Given the description of an element on the screen output the (x, y) to click on. 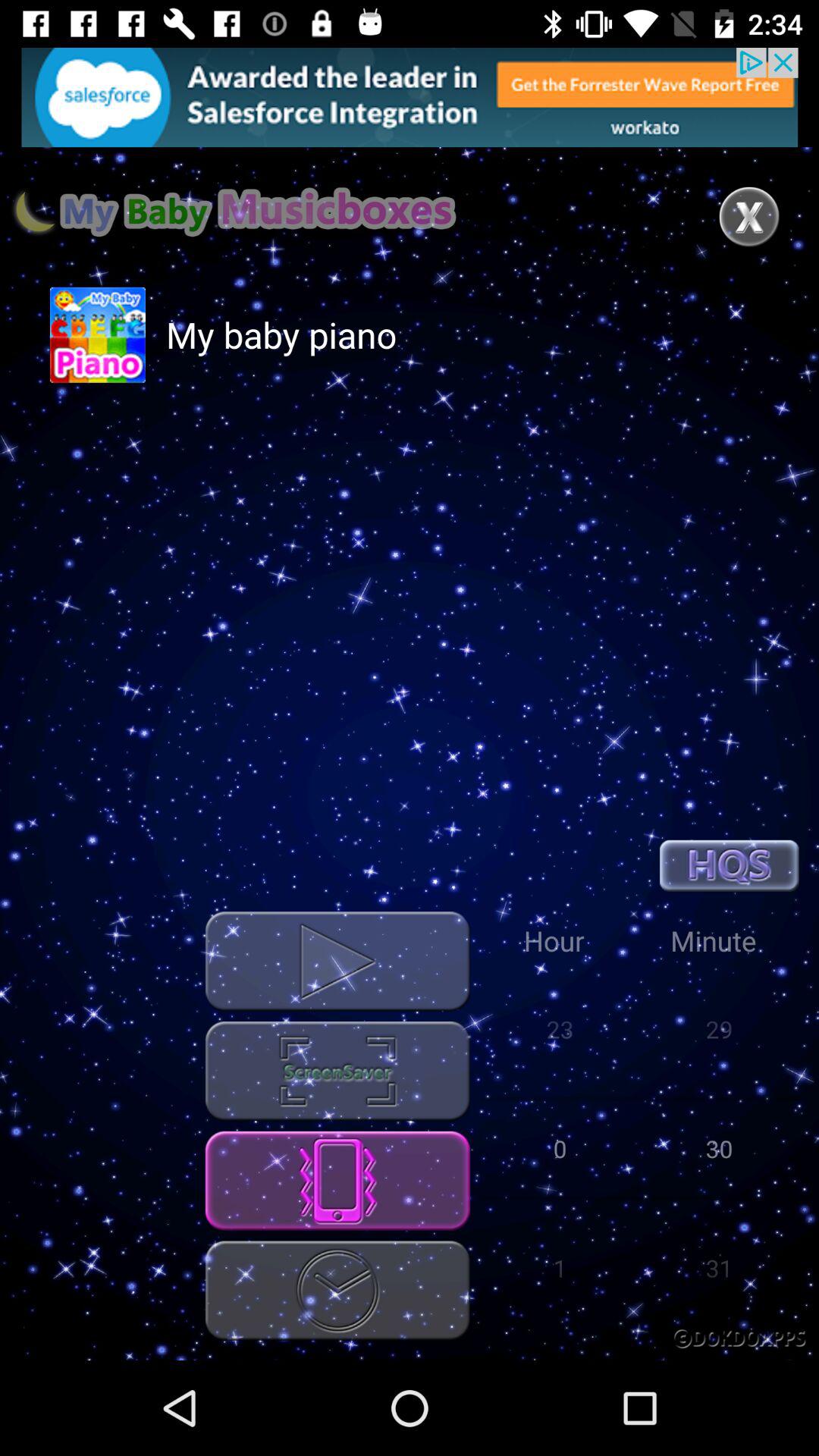
to select the option and process it (337, 1071)
